Given the description of an element on the screen output the (x, y) to click on. 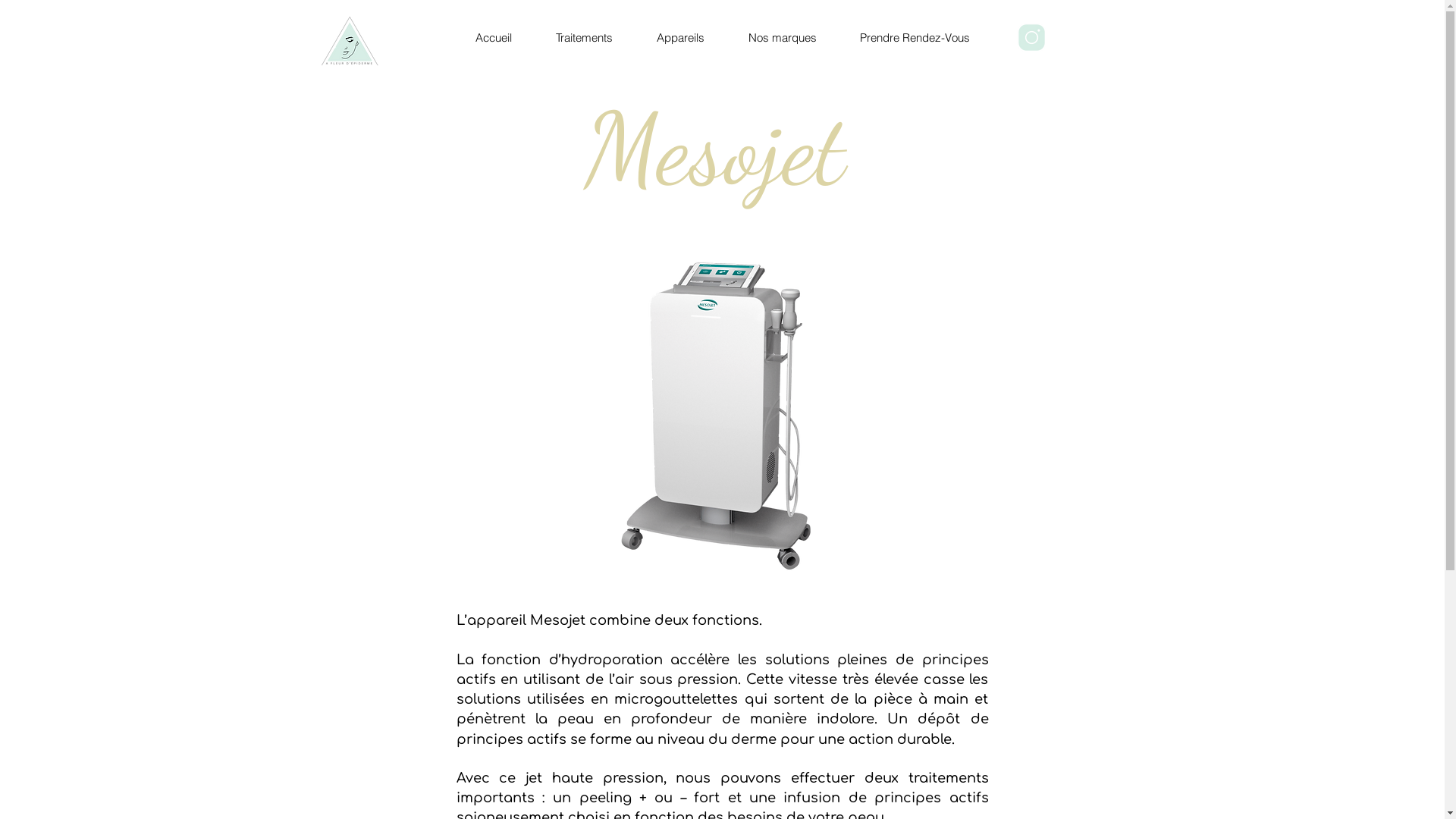
Prendre Rendez-Vous Element type: text (913, 37)
Accueil Element type: text (493, 37)
